Given the description of an element on the screen output the (x, y) to click on. 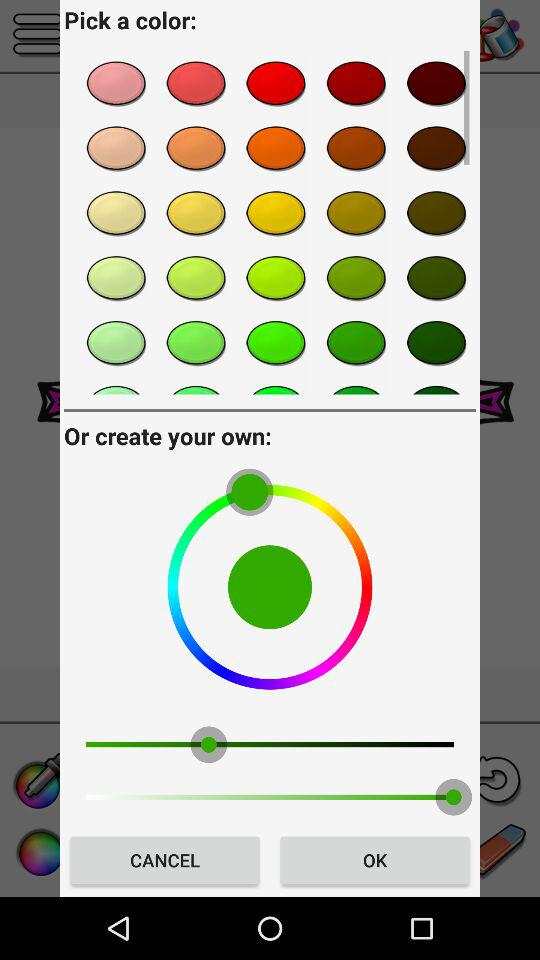
open the item to the right of the cancel icon (374, 859)
